Given the description of an element on the screen output the (x, y) to click on. 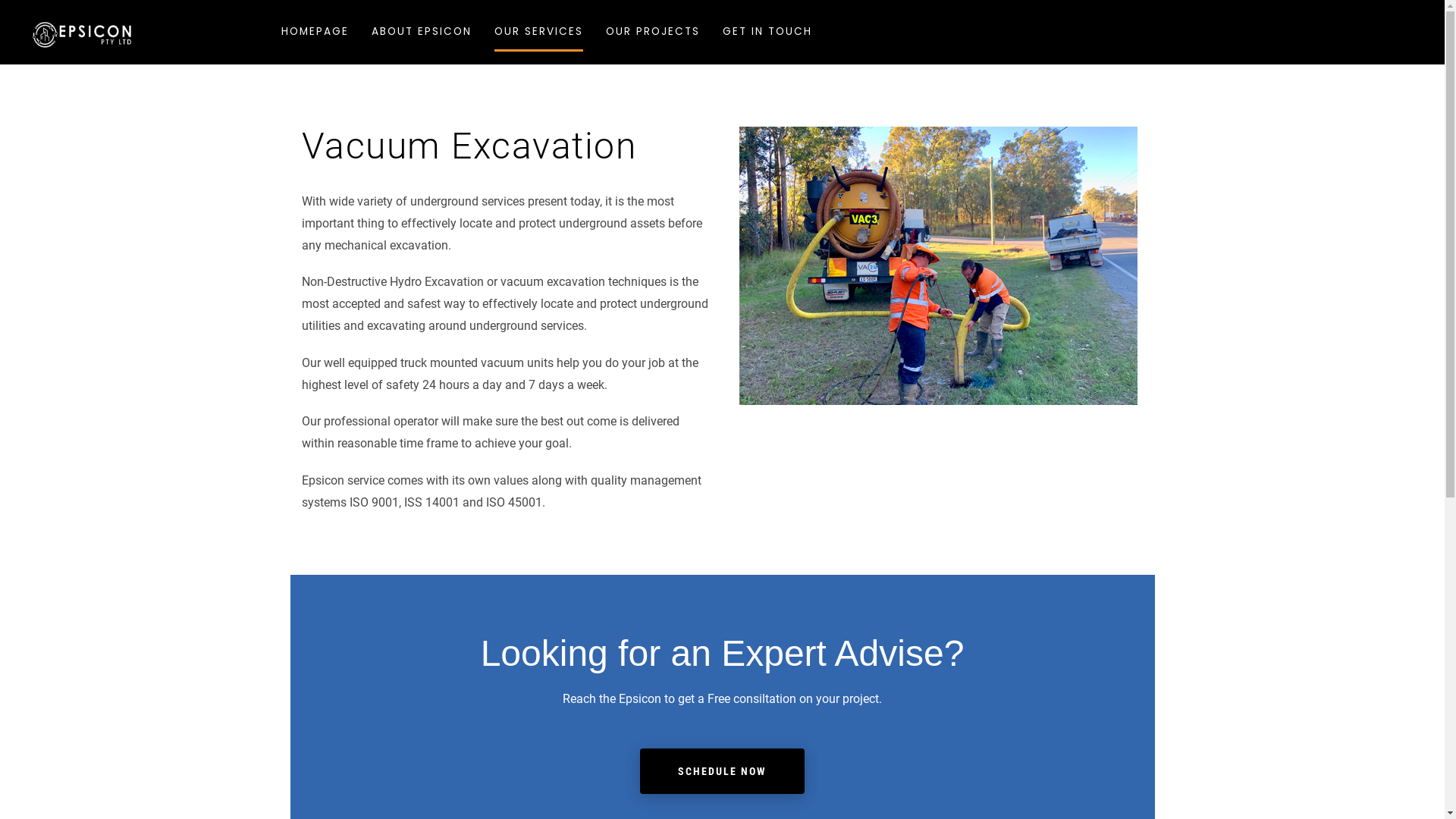
GET IN TOUCH Element type: text (767, 25)
SCHEDULE NOW Element type: text (722, 770)
OUR SERVICES Element type: text (538, 25)
ABOUT EPSICON Element type: text (421, 25)
OUR PROJECTS Element type: text (652, 25)
HOMEPAGE Element type: text (314, 25)
